Given the description of an element on the screen output the (x, y) to click on. 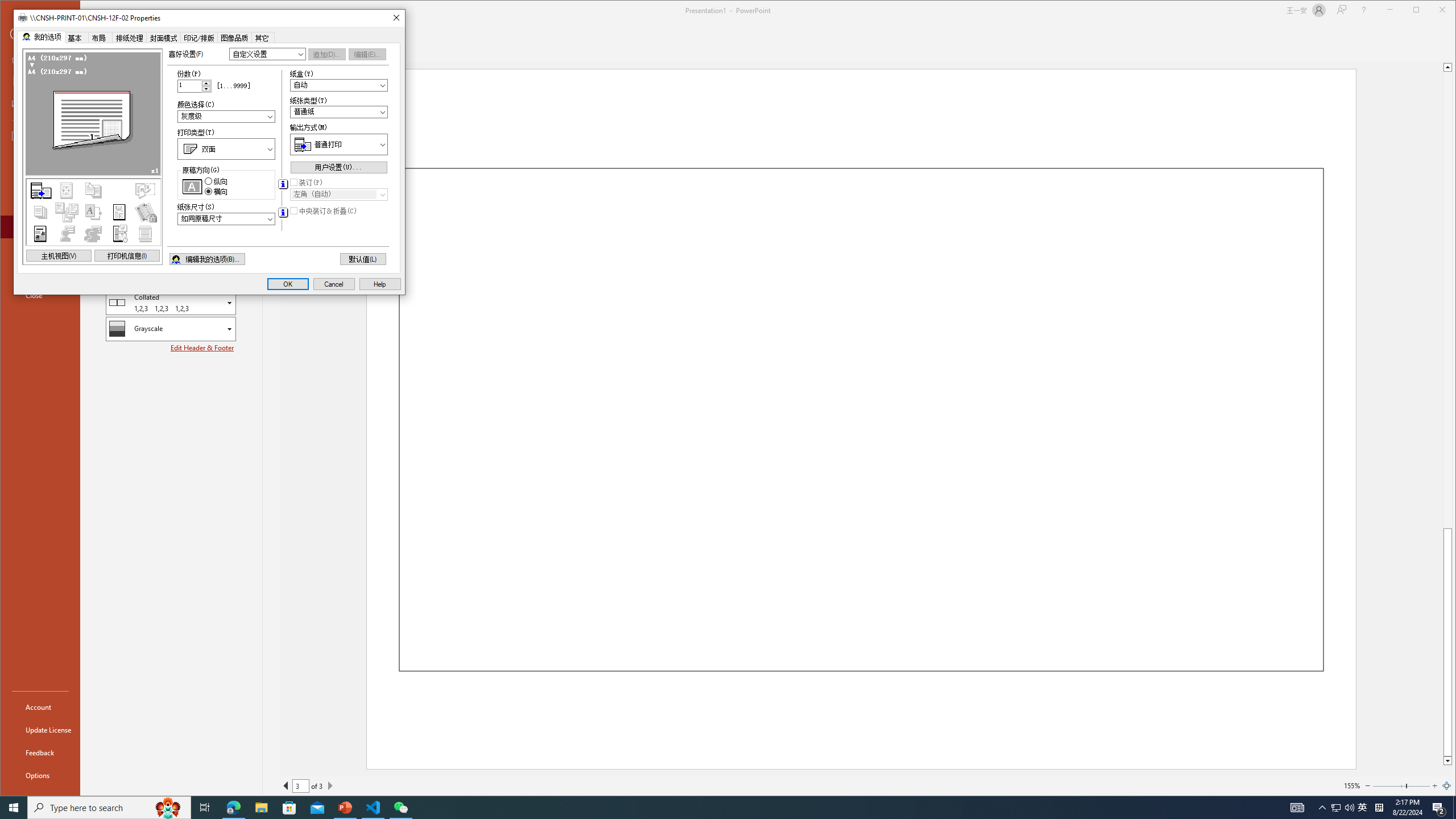
WeChat - 1 running window (400, 807)
Visual Studio Code - 1 running window (373, 807)
Page up (1447, 300)
Page left (1389, 785)
Show desktop (1454, 807)
PowerPoint - 1 running window (345, 807)
Running applications (707, 807)
Type here to search (108, 807)
